Given the description of an element on the screen output the (x, y) to click on. 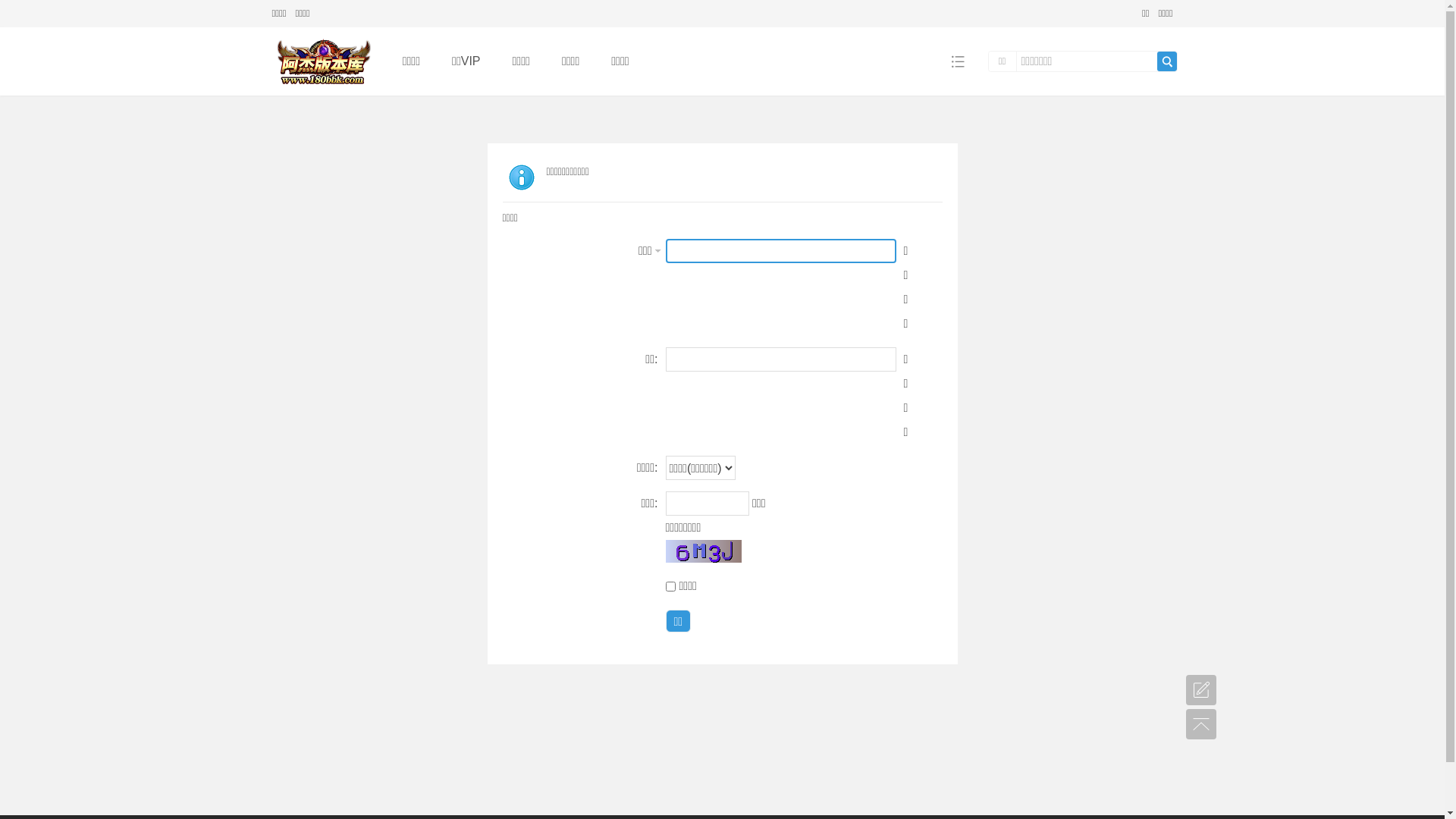
true Element type: text (1166, 61)
